Given the description of an element on the screen output the (x, y) to click on. 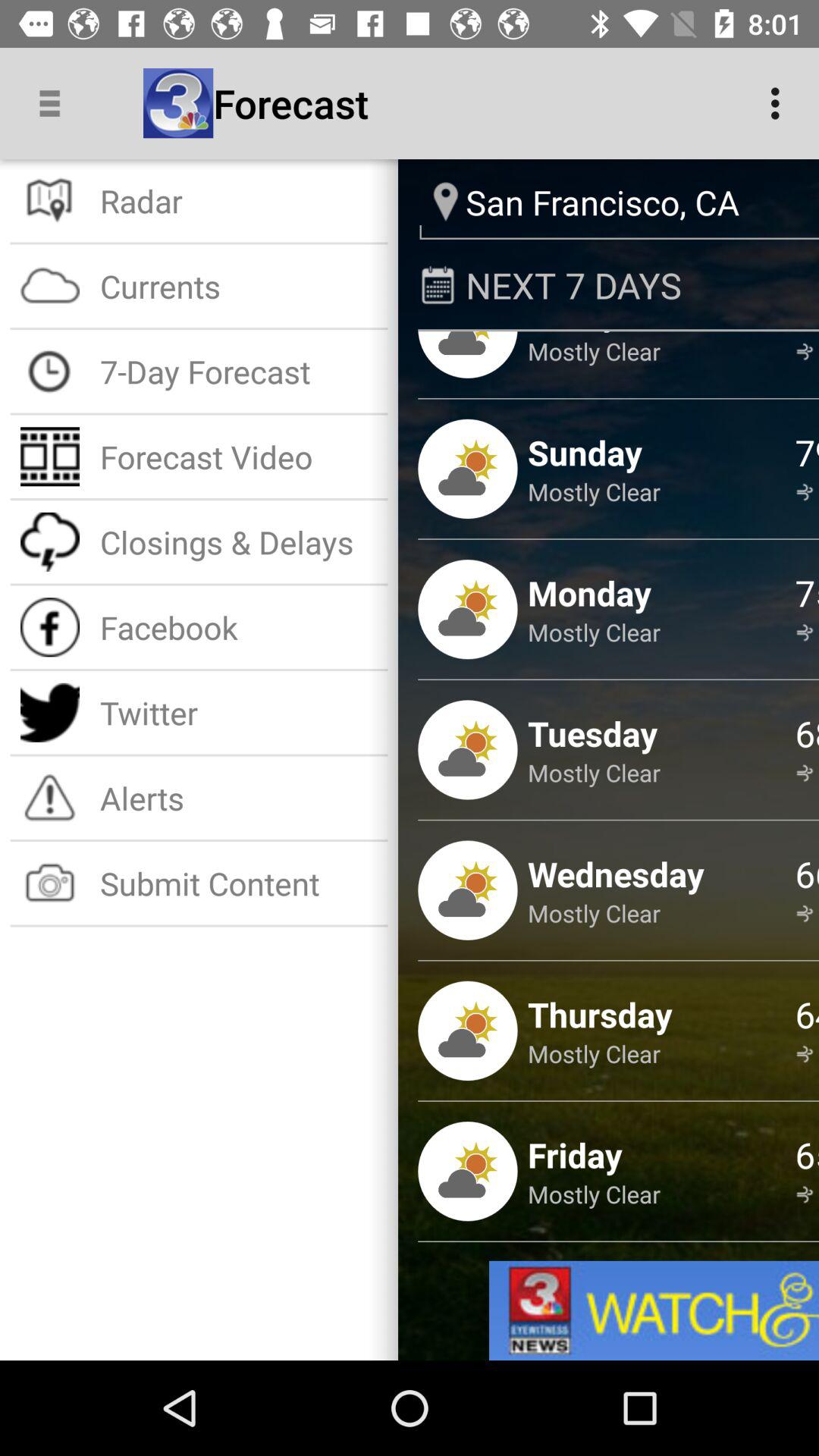
launch sunday (584, 452)
